Given the description of an element on the screen output the (x, y) to click on. 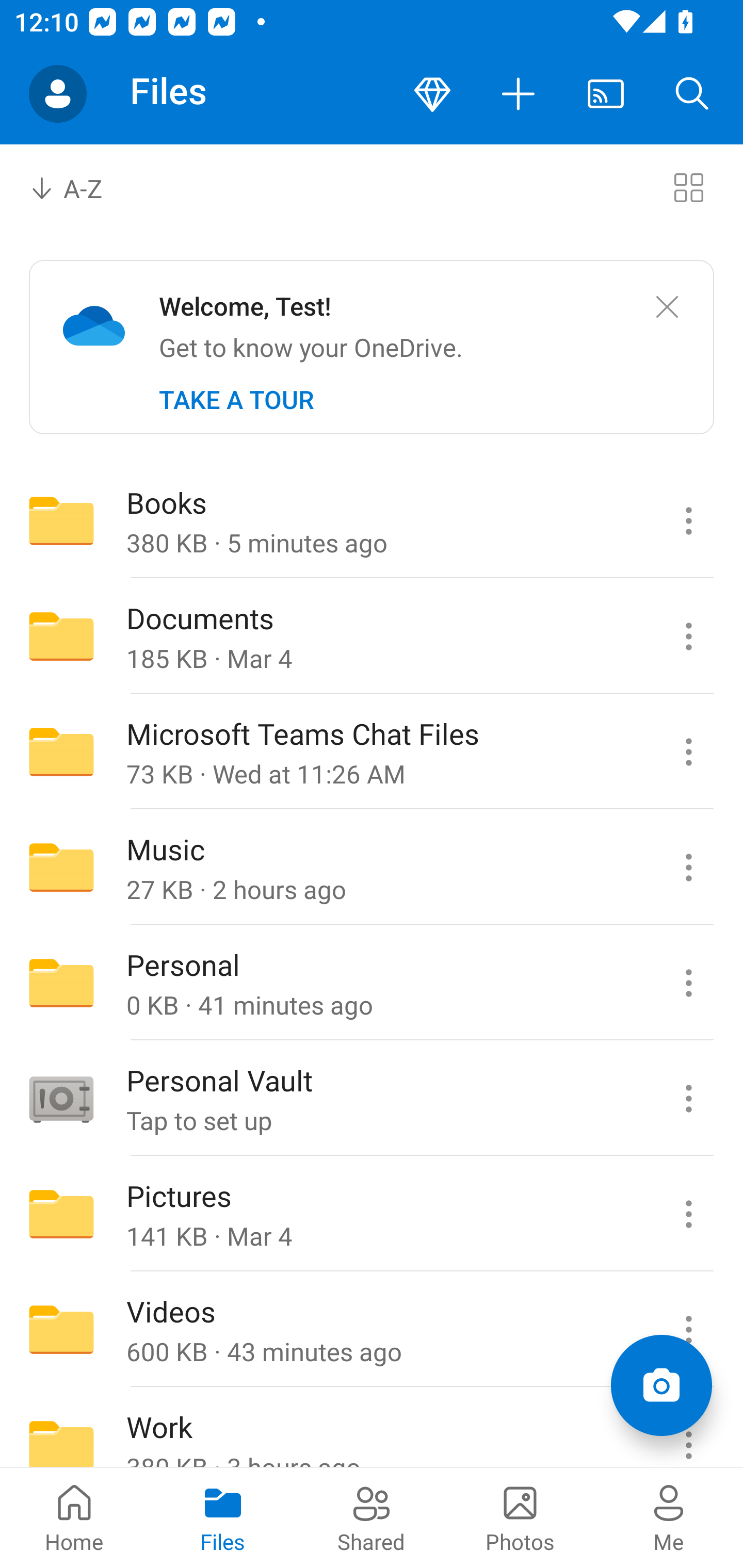
Account switcher (57, 93)
Cast. Disconnected (605, 93)
Premium button (432, 93)
More actions button (518, 93)
Search button (692, 93)
A-Z Sort by combo box, sort by name, A to Z (80, 187)
Switch to tiles view (688, 187)
Close (667, 307)
TAKE A TOUR (236, 399)
Folder Books 380 KB · 5 minutes ago Books commands (371, 520)
Books commands (688, 520)
Folder Documents 185 KB · Mar 4 Documents commands (371, 636)
Documents commands (688, 636)
Microsoft Teams Chat Files commands (688, 751)
Folder Music 27 KB · 2 hours ago Music commands (371, 867)
Music commands (688, 867)
Personal commands (688, 983)
Personal Vault commands (688, 1099)
Folder Pictures 141 KB · Mar 4 Pictures commands (371, 1214)
Pictures commands (688, 1214)
Videos commands (688, 1329)
Add items Scan (660, 1385)
Folder Work 380 KB · 3 hours ago Work commands (371, 1427)
Work commands (688, 1427)
Home pivot Home (74, 1517)
Shared pivot Shared (371, 1517)
Photos pivot Photos (519, 1517)
Me pivot Me (668, 1517)
